Given the description of an element on the screen output the (x, y) to click on. 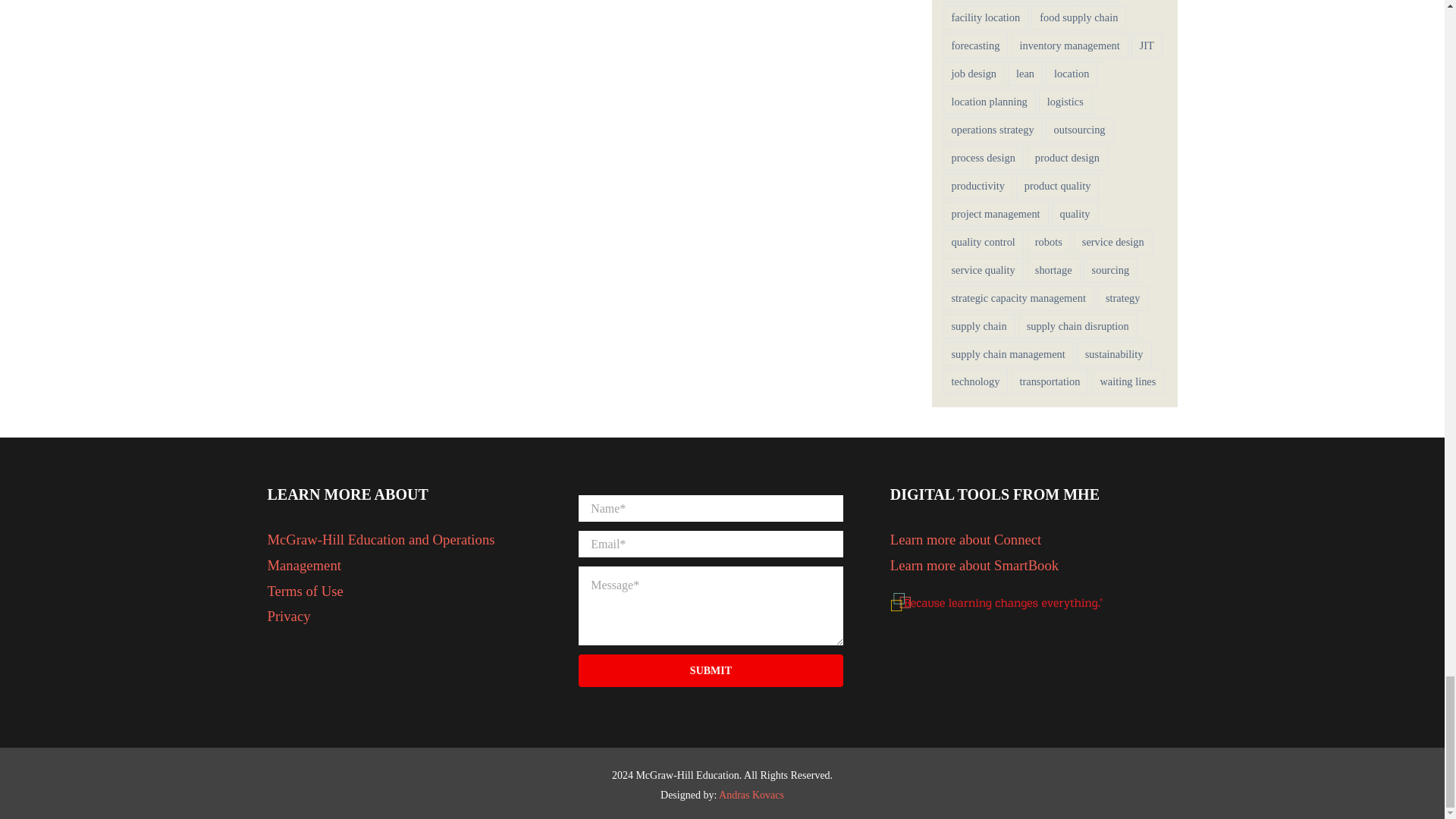
SUBMIT (710, 591)
